Given the description of an element on the screen output the (x, y) to click on. 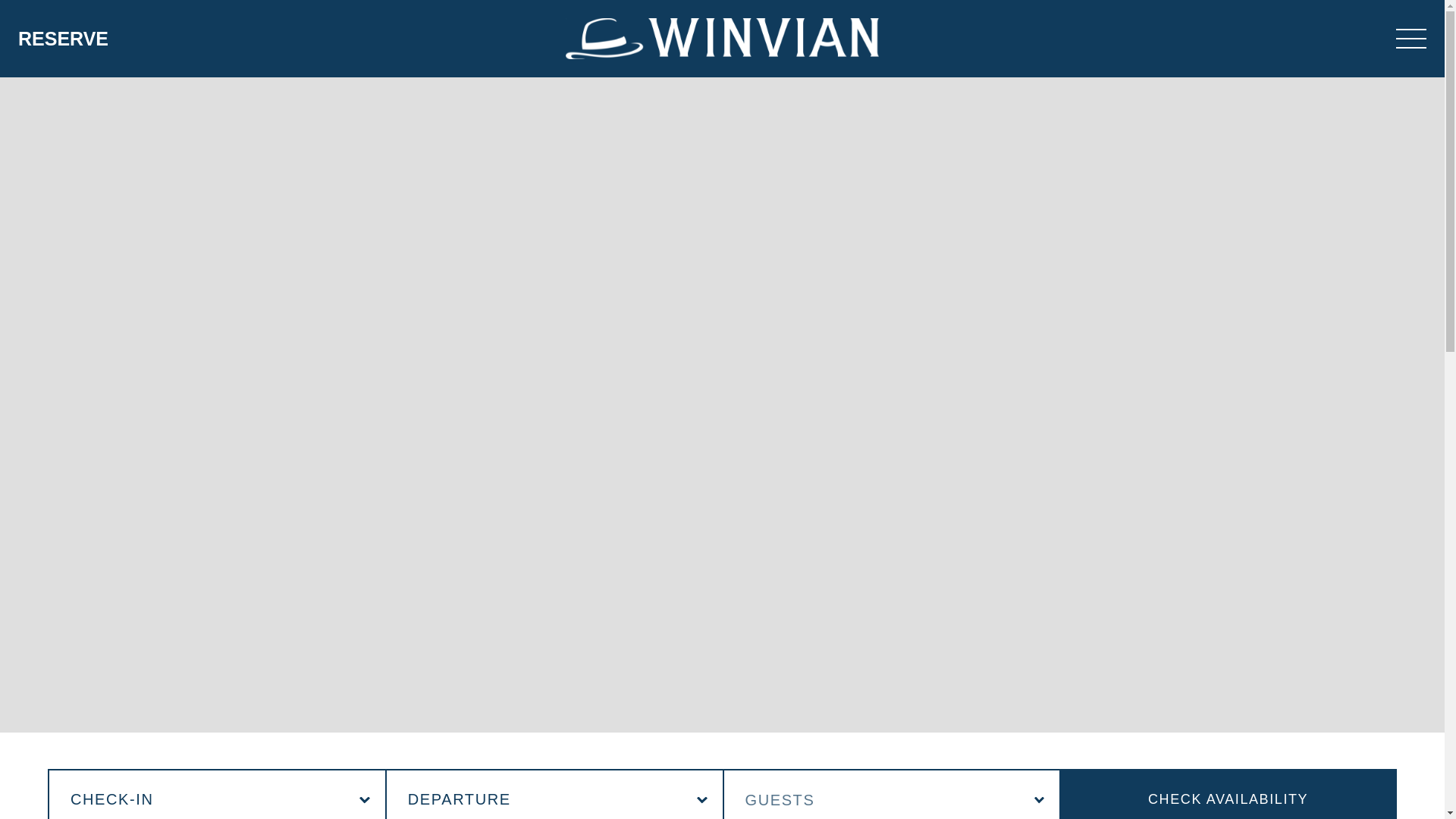
RESERVE (62, 38)
Check-In (217, 796)
Check Availability (1227, 794)
Home (722, 37)
Departure (554, 796)
